Given the description of an element on the screen output the (x, y) to click on. 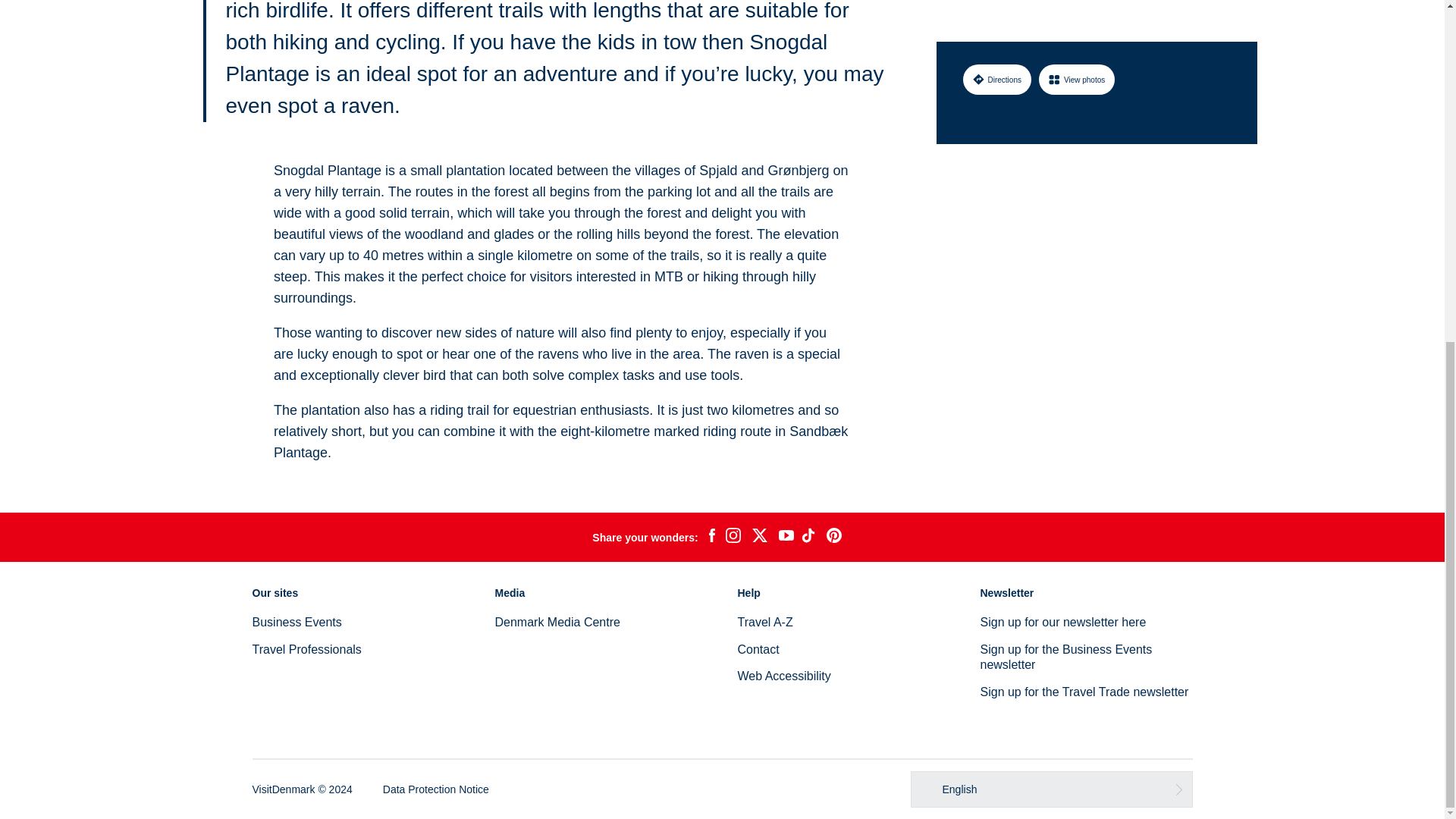
Business Events (295, 621)
twitter (759, 537)
Business Events (295, 621)
facebook (711, 537)
Web Accessibility (782, 675)
Travel A-Z (764, 621)
Contact (757, 649)
Denmark Media Centre (557, 621)
Web Accessibility (782, 675)
Denmark Media Centre (557, 621)
